Given the description of an element on the screen output the (x, y) to click on. 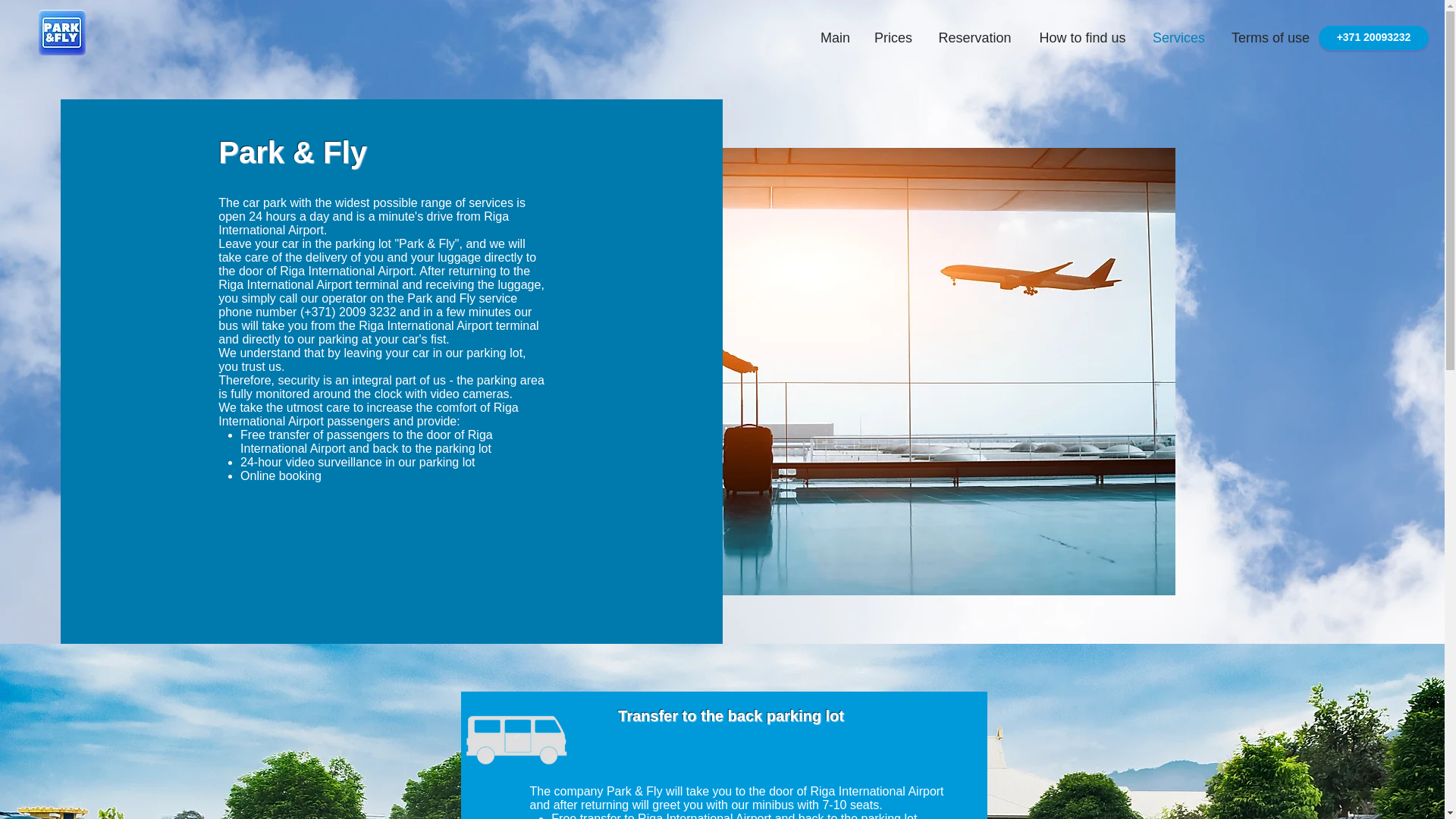
Reservation (974, 37)
Terms of use (1270, 37)
Prices (892, 37)
Services (1178, 37)
Main (834, 37)
How to find us (1082, 37)
